Given the description of an element on the screen output the (x, y) to click on. 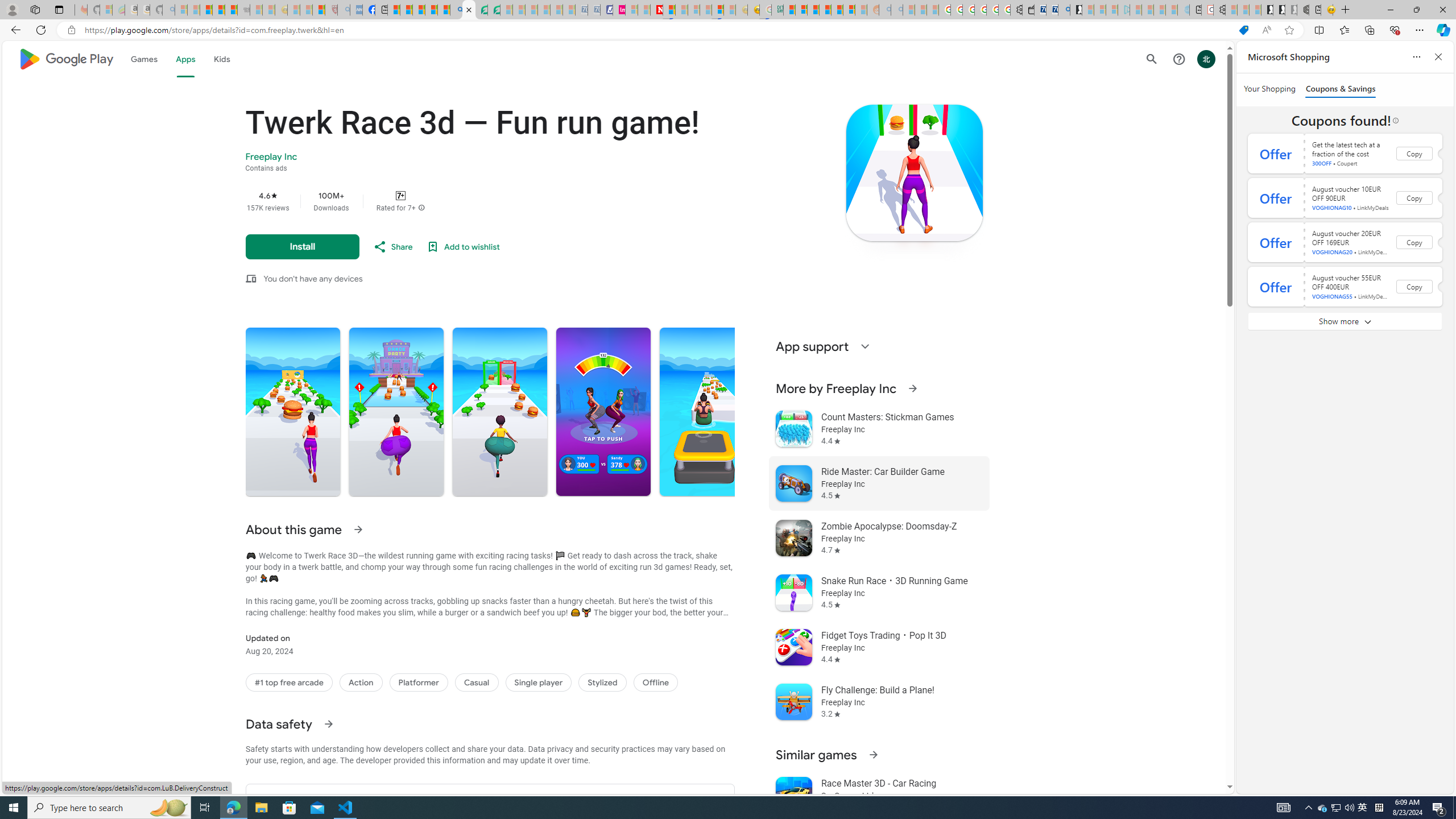
Read aloud this page (Ctrl+Shift+U) (1266, 29)
MSNBC - MSN (789, 9)
More info about this content rating (421, 207)
Stylized (602, 682)
Apps (185, 58)
Recipes - MSN - Sleeping (293, 9)
Install (301, 246)
Settings and more (Alt+F) (1419, 29)
Local - MSN (318, 9)
Microsoft Word - consumer-privacy address update 2.2021 (494, 9)
